Given the description of an element on the screen output the (x, y) to click on. 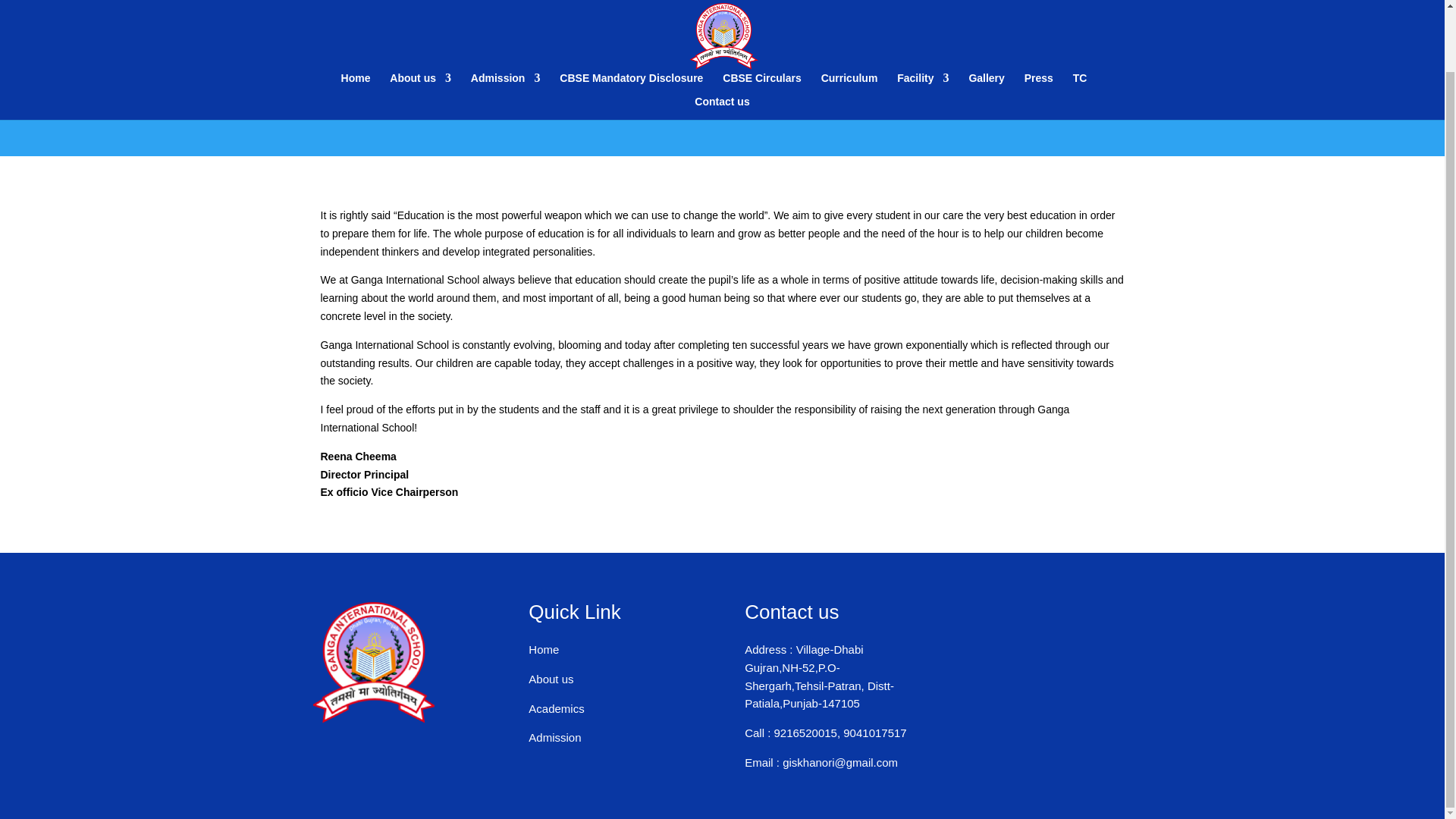
Home (355, 16)
Press (1038, 16)
CBSE Mandatory Disclosure (631, 16)
CBSE Circulars (761, 16)
Admission (505, 16)
Gallery (986, 16)
Curriculum (849, 16)
Contact us (721, 40)
About us (420, 16)
Facility (922, 16)
